Given the description of an element on the screen output the (x, y) to click on. 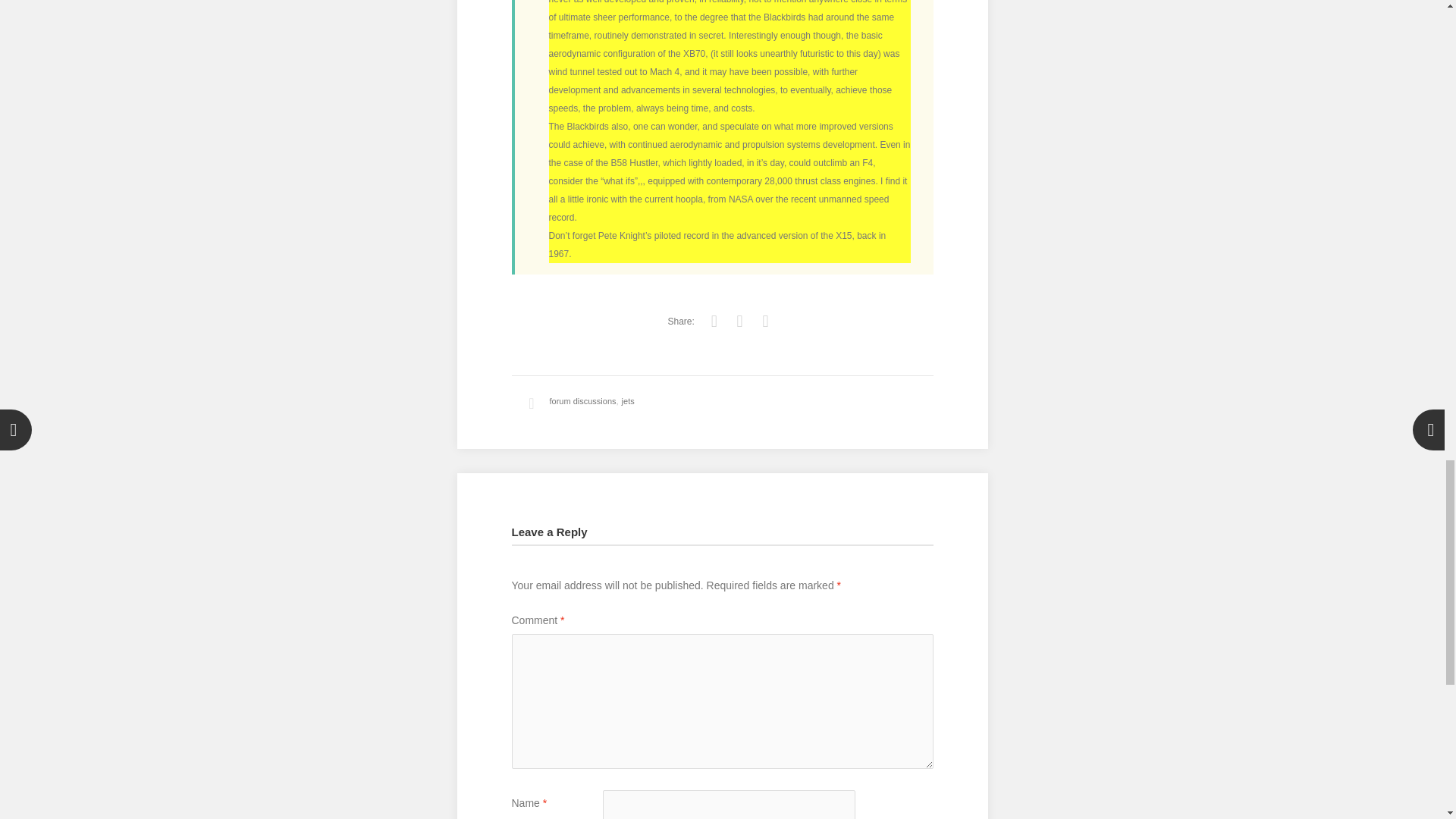
jets (627, 400)
Facebook (740, 321)
forum discussions (581, 400)
Twitter (714, 321)
